Given the description of an element on the screen output the (x, y) to click on. 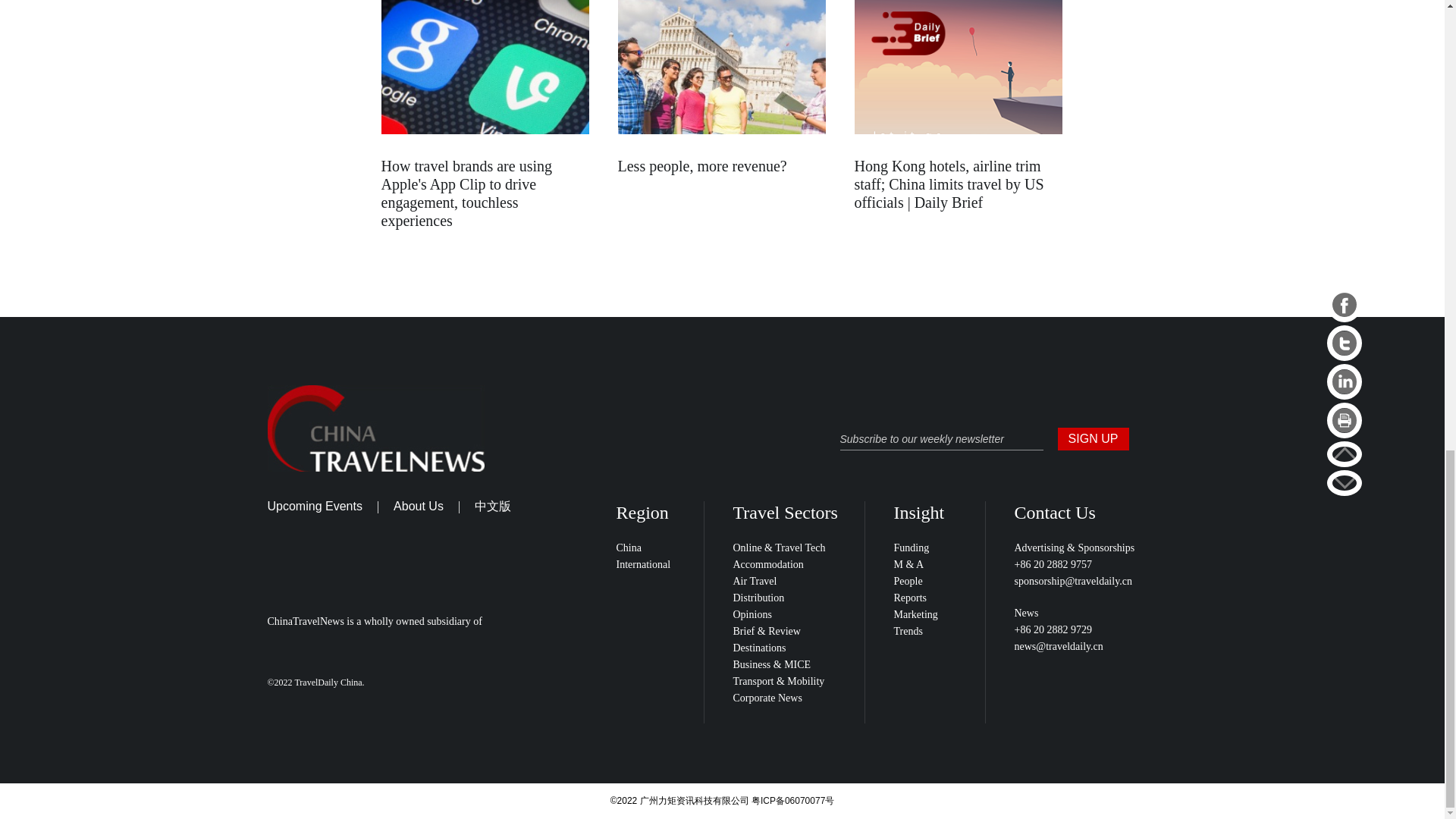
SIGN UP (1092, 438)
Upcoming Events (313, 505)
About Us (418, 505)
Less people, more revenue? (701, 166)
